Given the description of an element on the screen output the (x, y) to click on. 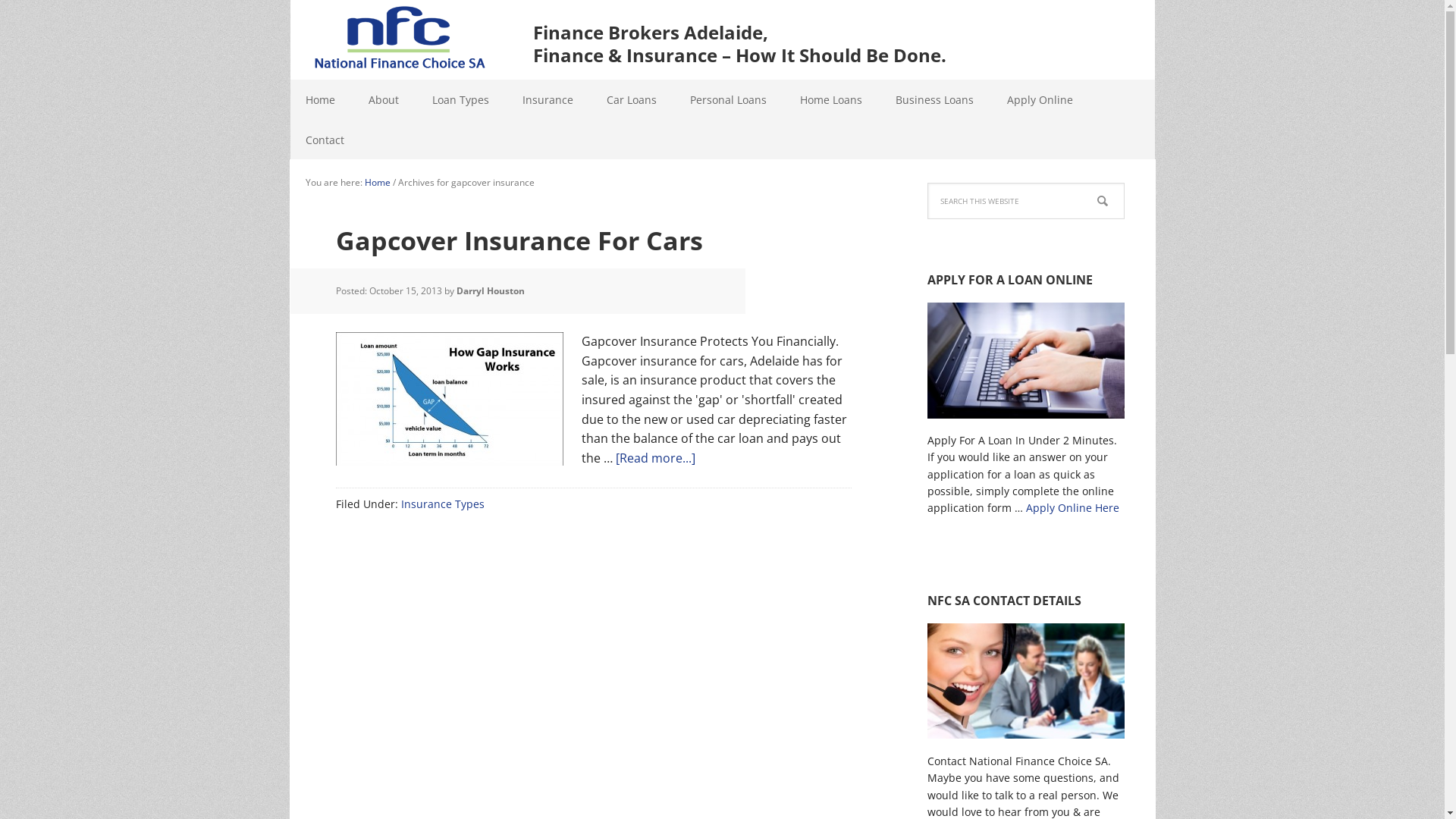
Gapcover Insurance For Cars Element type: text (518, 239)
Car Loans Element type: text (631, 99)
Personal Loans Element type: text (727, 99)
Home Element type: text (319, 99)
Contact NFC SA Element type: hover (1024, 743)
Insurance Types Element type: text (441, 503)
Apply Online Here Element type: text (1071, 507)
Apply Online Element type: text (1039, 99)
Home Loans Element type: text (830, 99)
Search Element type: text (1123, 182)
Darryl Houston Element type: text (490, 290)
Home Element type: text (376, 181)
[Read more...] Element type: text (655, 457)
Contact Element type: text (323, 139)
Business Loans Element type: text (933, 99)
Insurance Element type: text (546, 99)
About Element type: text (383, 99)
Loan Types Element type: text (460, 99)
Apply Online Element type: hover (1024, 423)
